Given the description of an element on the screen output the (x, y) to click on. 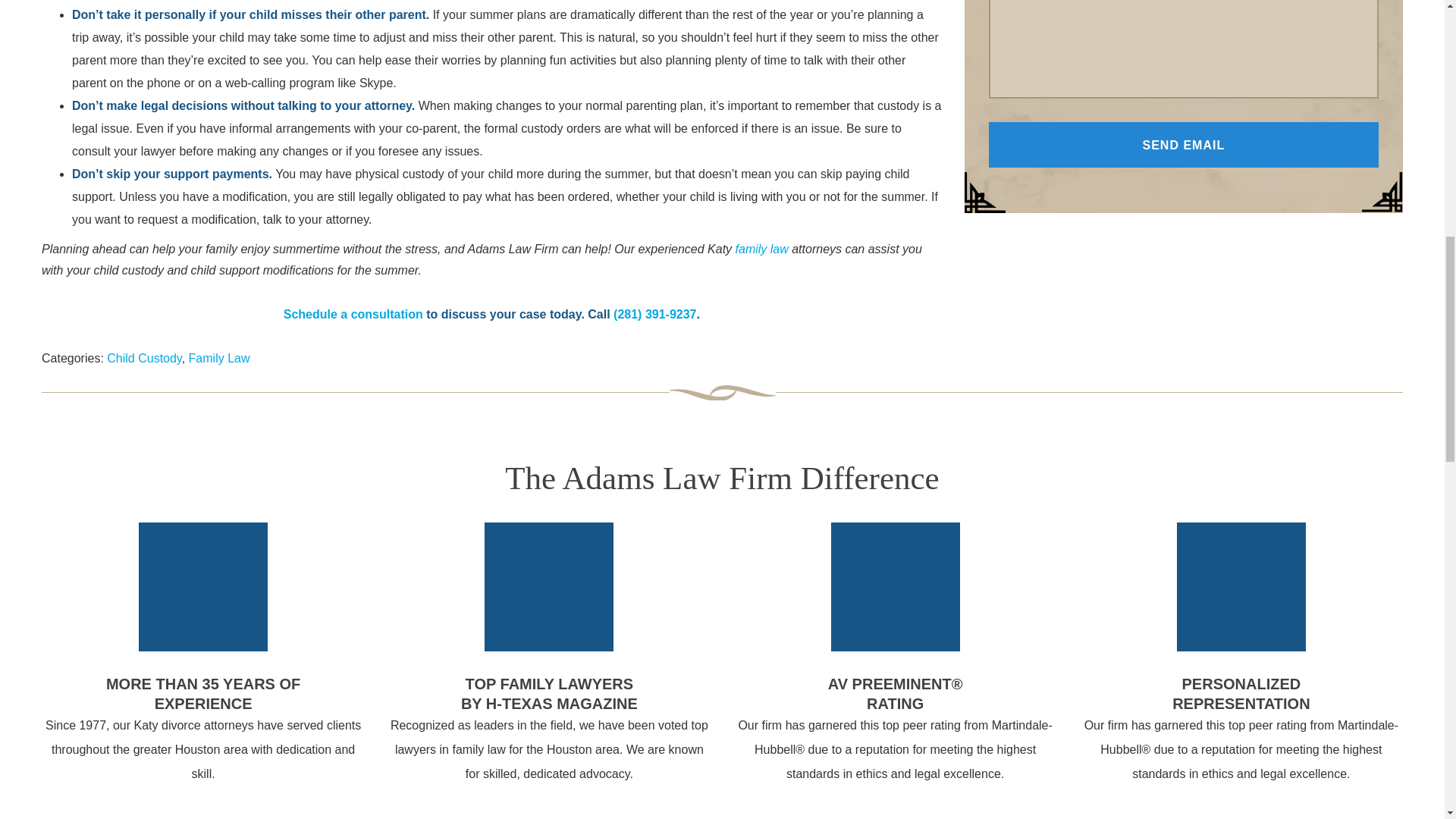
Schedule a consultation (353, 314)
Child Custody (143, 358)
family law (762, 248)
Family Law (219, 358)
Send Email (1183, 144)
Send Email (1183, 144)
